Given the description of an element on the screen output the (x, y) to click on. 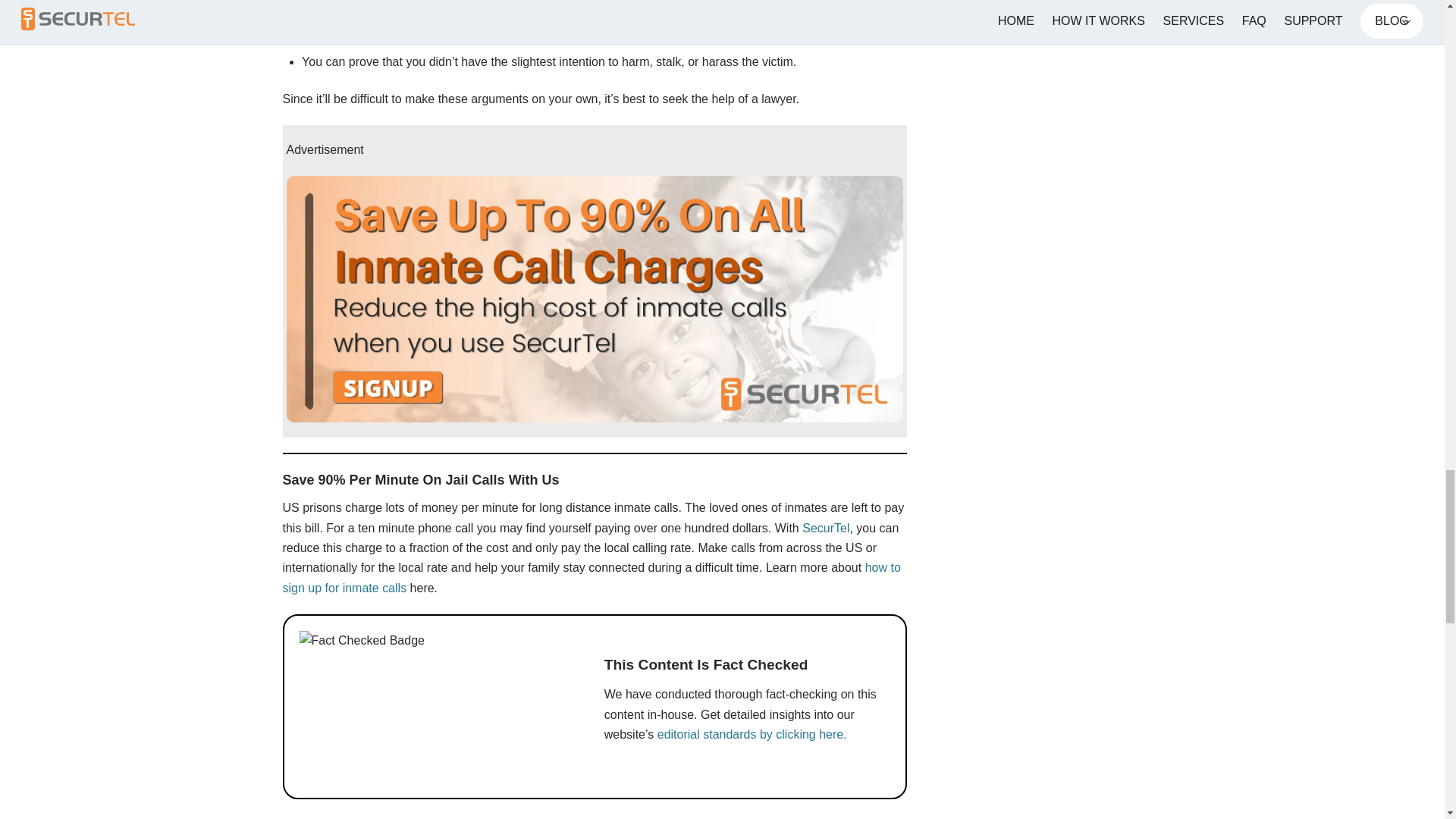
Fact Checked Badge (373, 706)
SecurTel (825, 527)
how to sign up for inmate calls (590, 577)
editorial standards by clicking here. (752, 734)
